Given the description of an element on the screen output the (x, y) to click on. 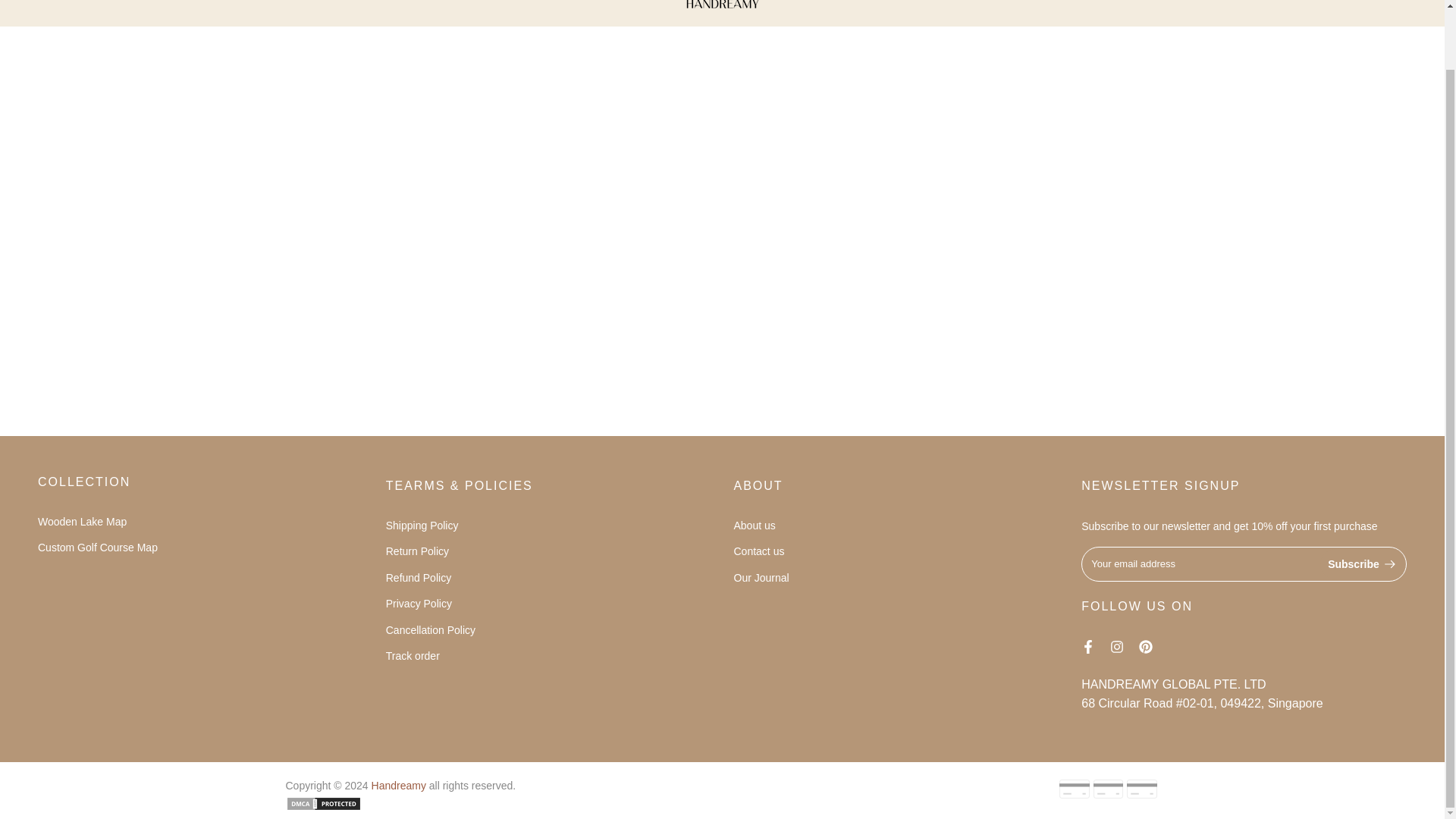
Cancellation Policy (430, 630)
Refund Policy (418, 577)
Wooden Lake Map (81, 521)
Subscribe (1362, 563)
Our Journal (761, 577)
Return Policy (416, 551)
Contact us (758, 551)
Track order (412, 655)
Custom Golf Course Map (97, 547)
About us (754, 525)
Privacy Policy (418, 603)
DMCA.com Protection Status (323, 802)
Shipping Policy (421, 525)
